Given the description of an element on the screen output the (x, y) to click on. 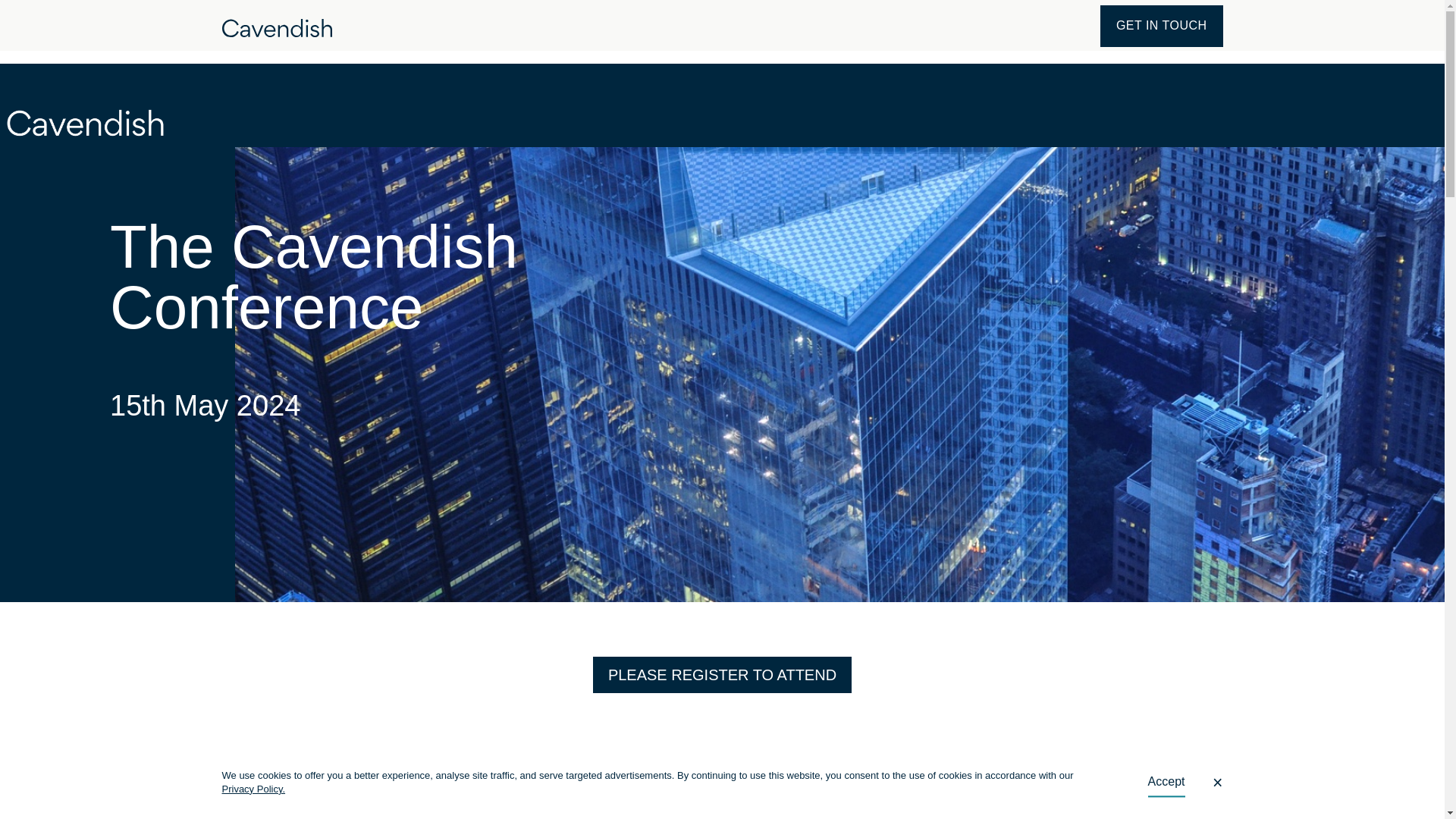
PLEASE REGISTER TO ATTEND (721, 674)
GET IN TOUCH (1161, 24)
